Given the description of an element on the screen output the (x, y) to click on. 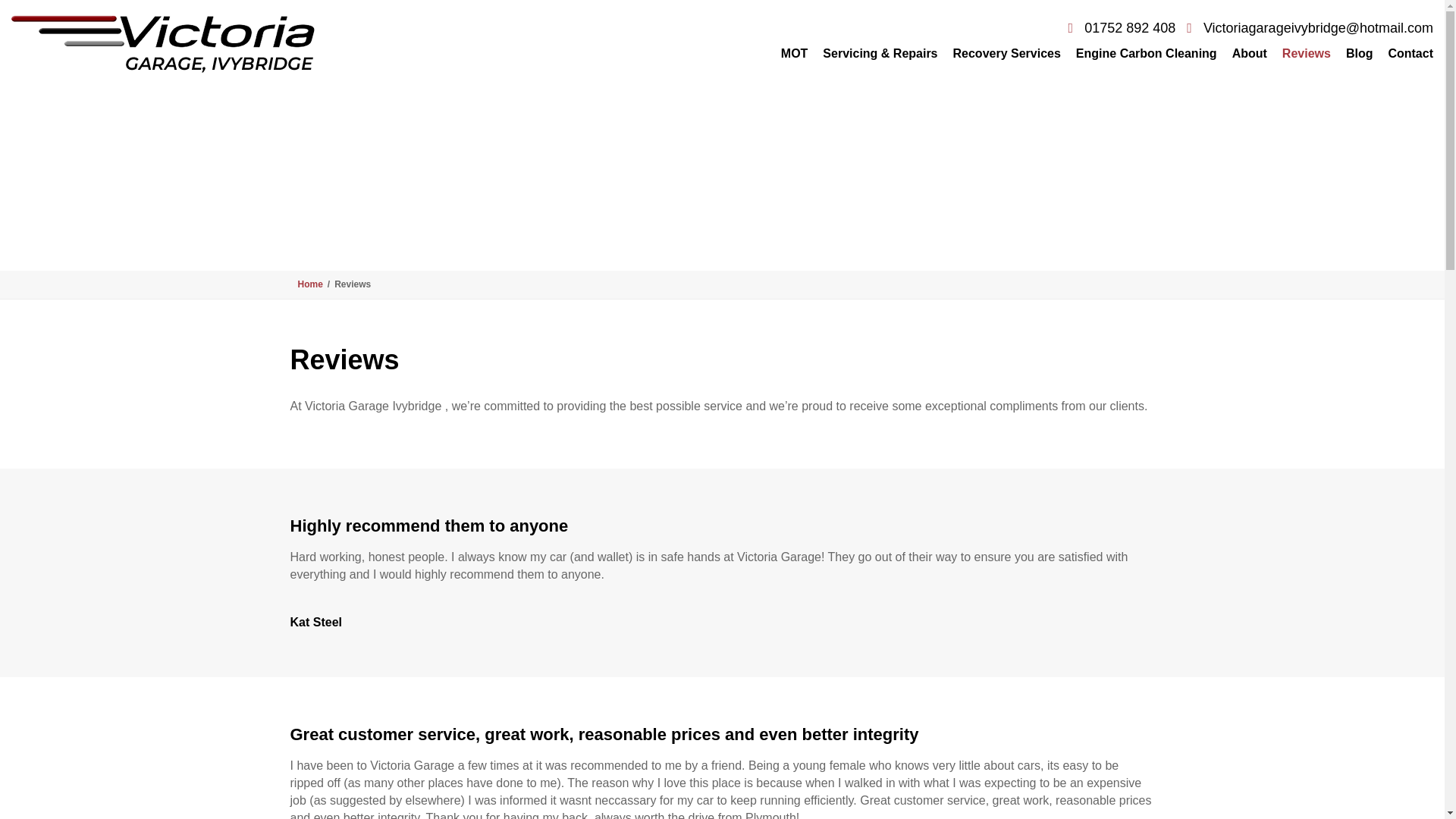
Engine Carbon Cleaning (1146, 53)
Contact (1406, 53)
MOT (794, 53)
Recovery Services (1006, 53)
MOT (794, 53)
Blog (1359, 53)
Home (309, 284)
Engine Carbon Cleaning (1146, 53)
Blog (1359, 53)
About (1249, 53)
